Given the description of an element on the screen output the (x, y) to click on. 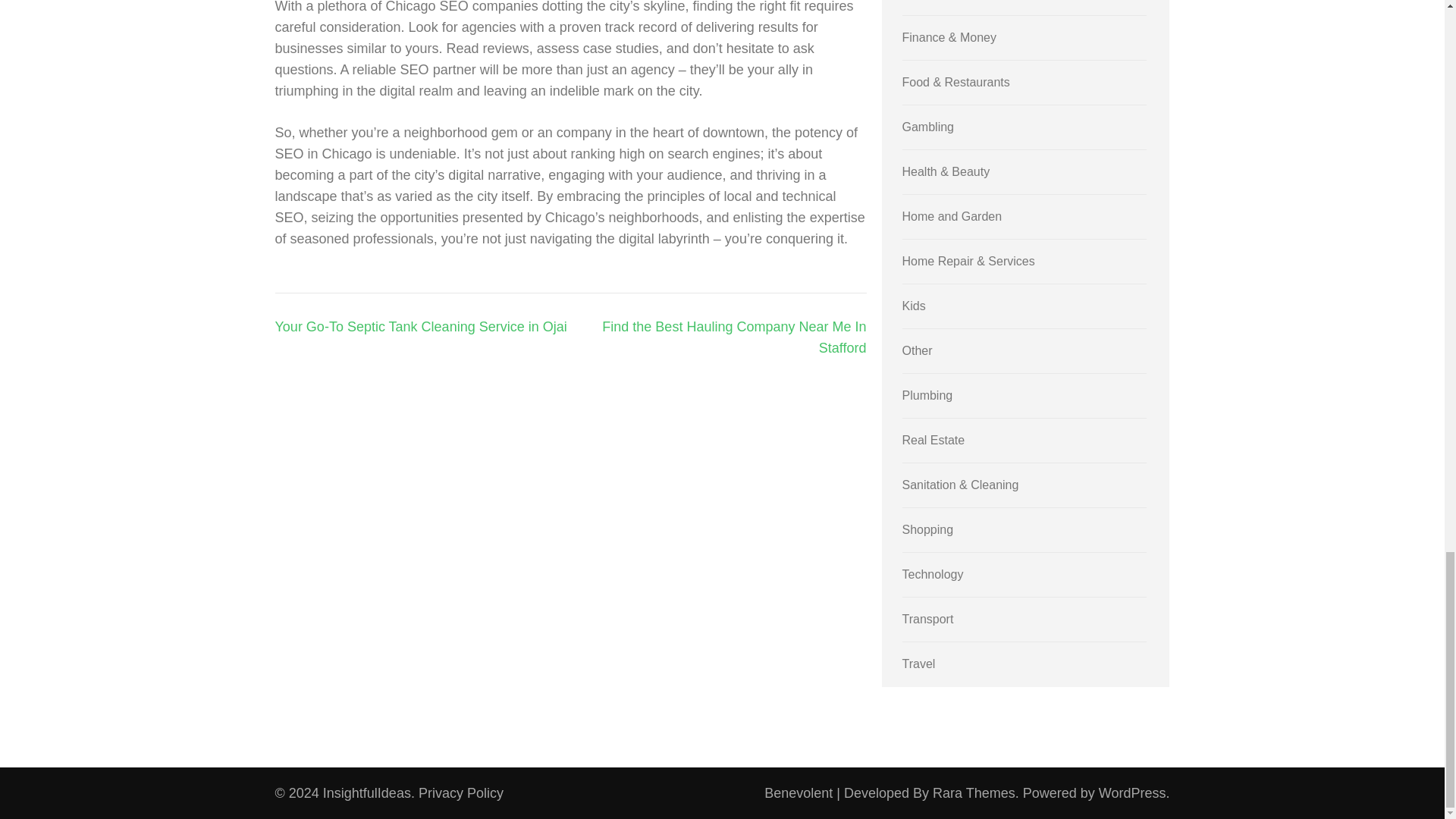
Your Go-To Septic Tank Cleaning Service in Ojai (420, 326)
Find the Best Hauling Company Near Me In Stafford (734, 337)
